Given the description of an element on the screen output the (x, y) to click on. 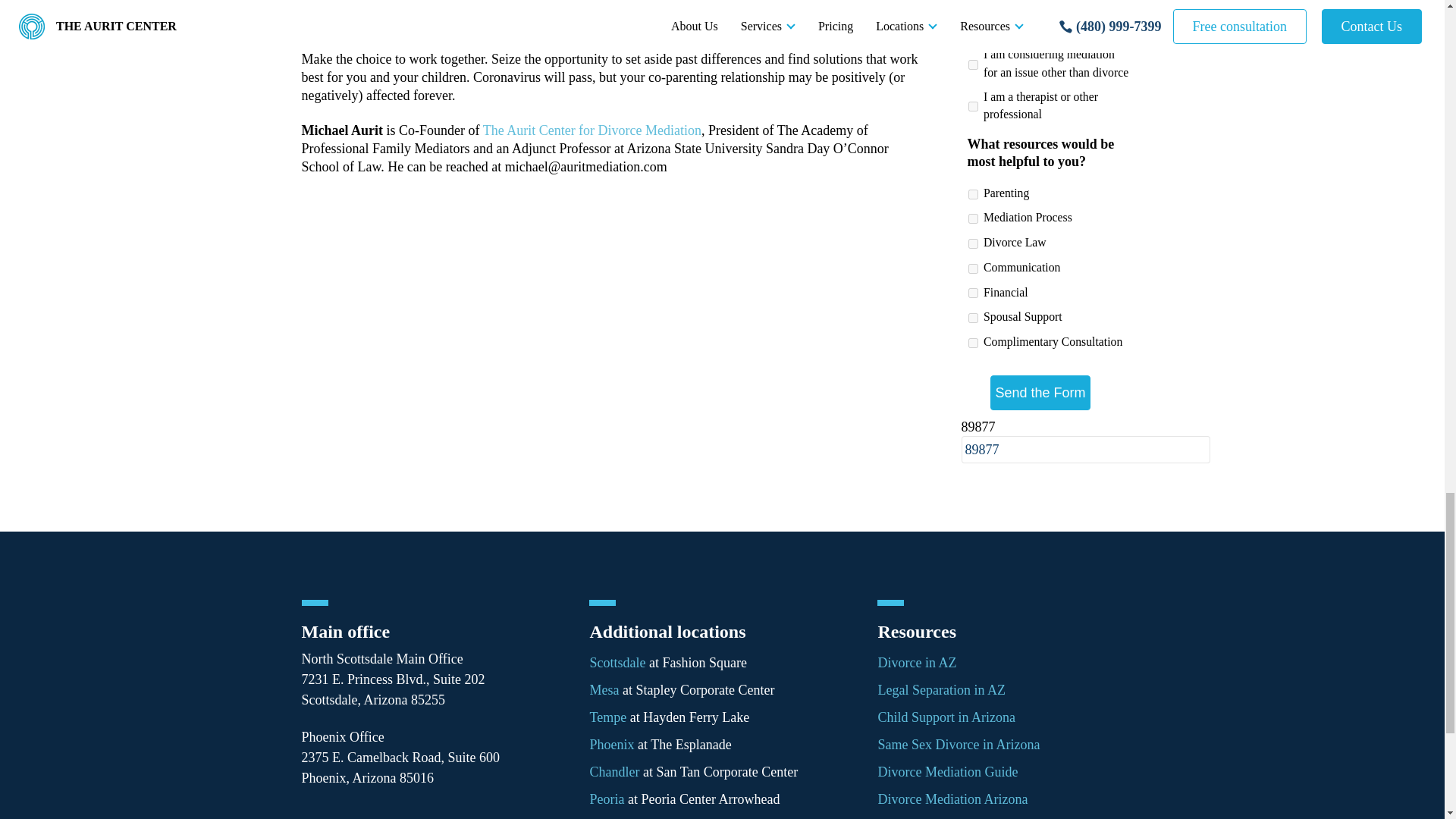
I am considering mediation for an issue other than divorce (972, 64)
Communication (972, 268)
I am in litigation (972, 7)
Financial (972, 293)
I am a co-parent (972, 31)
Spousal Support (972, 317)
Parenting (972, 194)
89877 (1084, 448)
Mediation Process (972, 218)
Complimentary Consultation (972, 343)
I am a therapist or other professional (972, 106)
Send the Form (1039, 391)
Divorce Law (972, 243)
The Aurit Center for Divorce Mediation (592, 130)
